Given the description of an element on the screen output the (x, y) to click on. 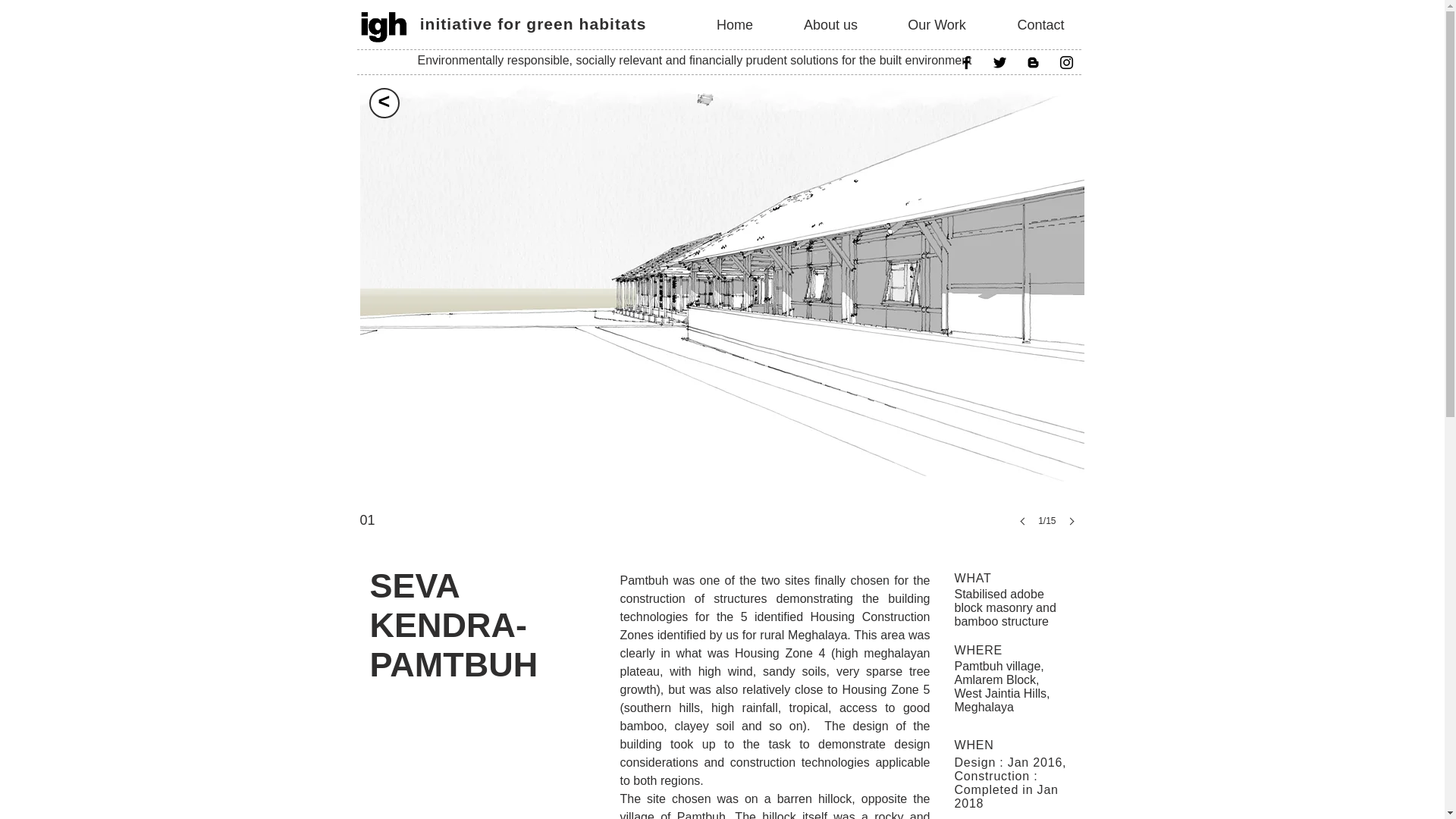
Contact (1040, 25)
Home (734, 25)
Our Work (936, 25)
initiative for green habitats (533, 23)
SEVA KENDRA- PAMTBUH (453, 624)
About us (830, 25)
